Given the description of an element on the screen output the (x, y) to click on. 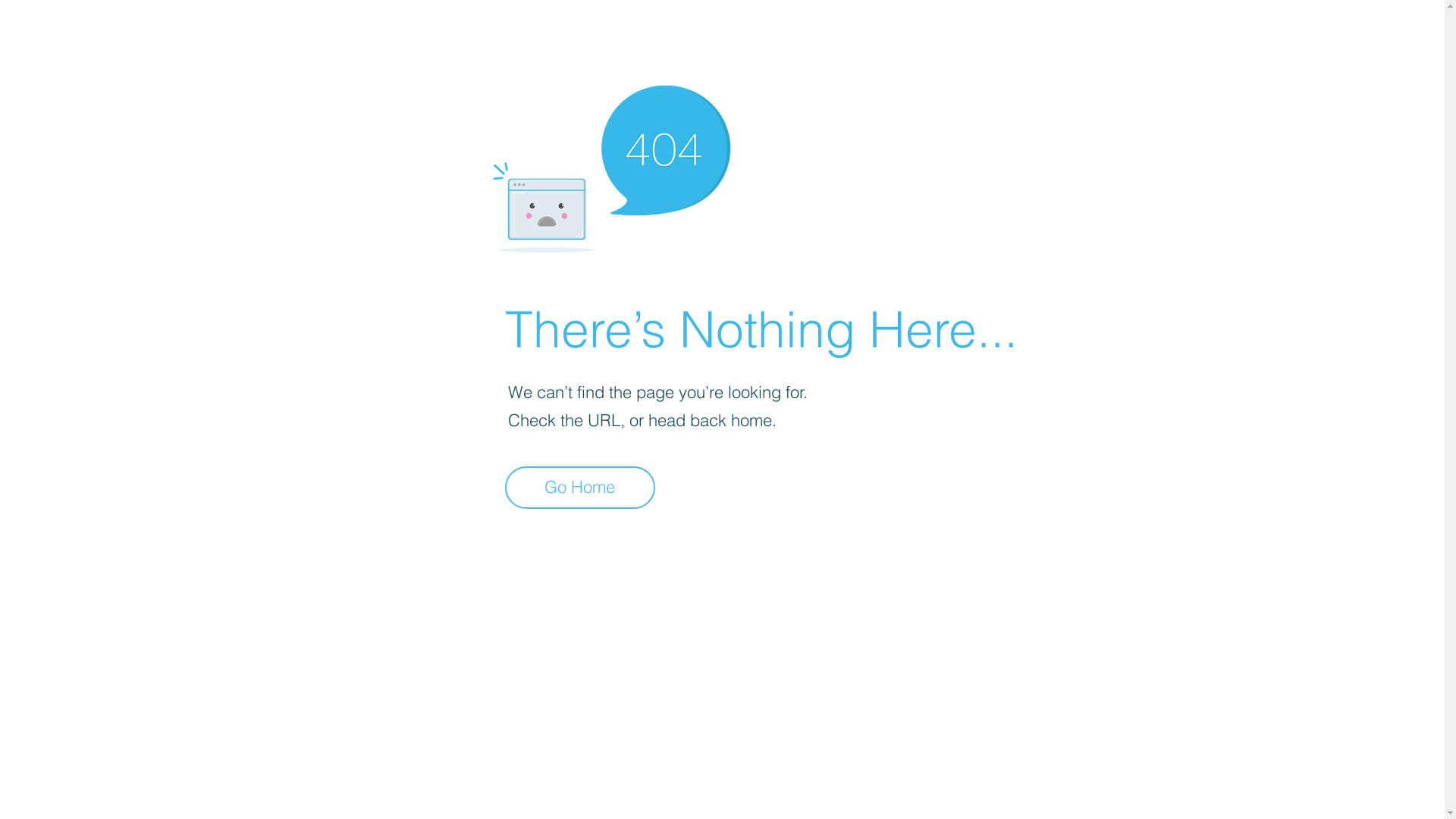
Go Home Element type: text (580, 487)
404-icon_2.png Element type: hover (610, 164)
